Given the description of an element on the screen output the (x, y) to click on. 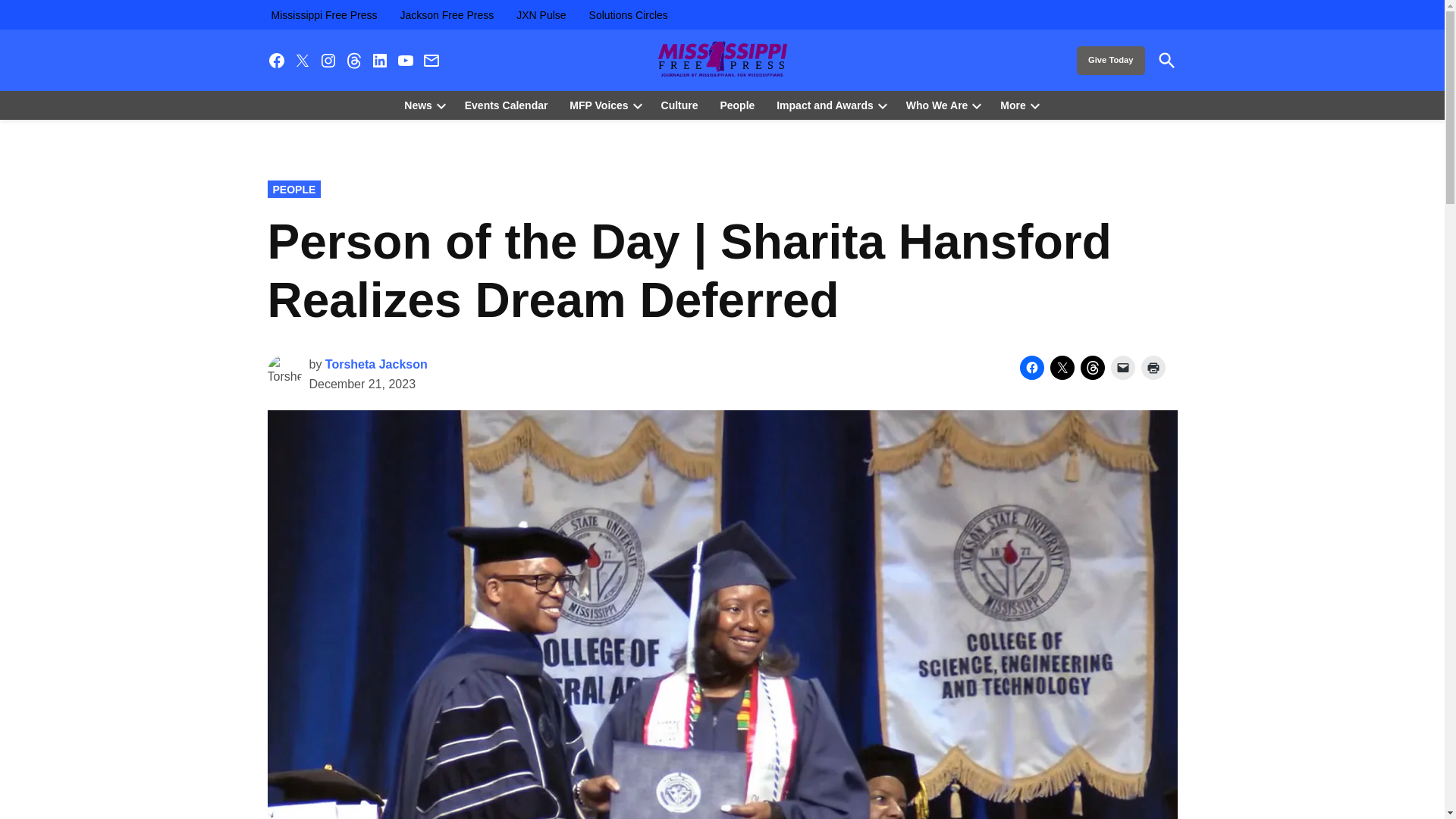
Click to share on Threads (1091, 367)
Click to share on Facebook (1031, 367)
Click to share on X (1061, 367)
Click to print (1152, 367)
Click to email a link to a friend (1121, 367)
